Given the description of an element on the screen output the (x, y) to click on. 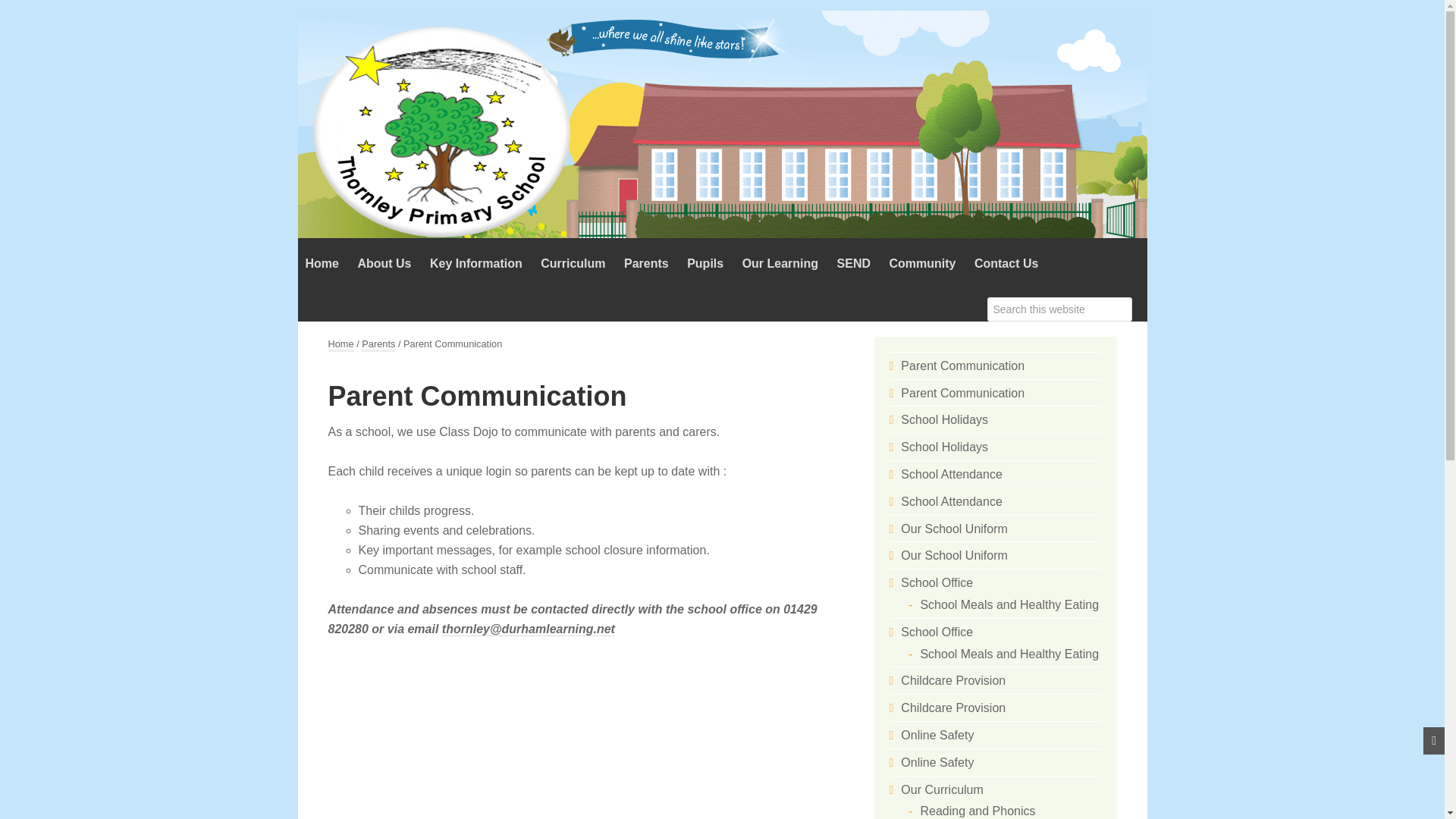
Our Learning (780, 264)
Home (321, 264)
Parents (646, 264)
About Us (384, 264)
Curriculum (572, 264)
Key Information (475, 264)
Pupils (704, 264)
